Given the description of an element on the screen output the (x, y) to click on. 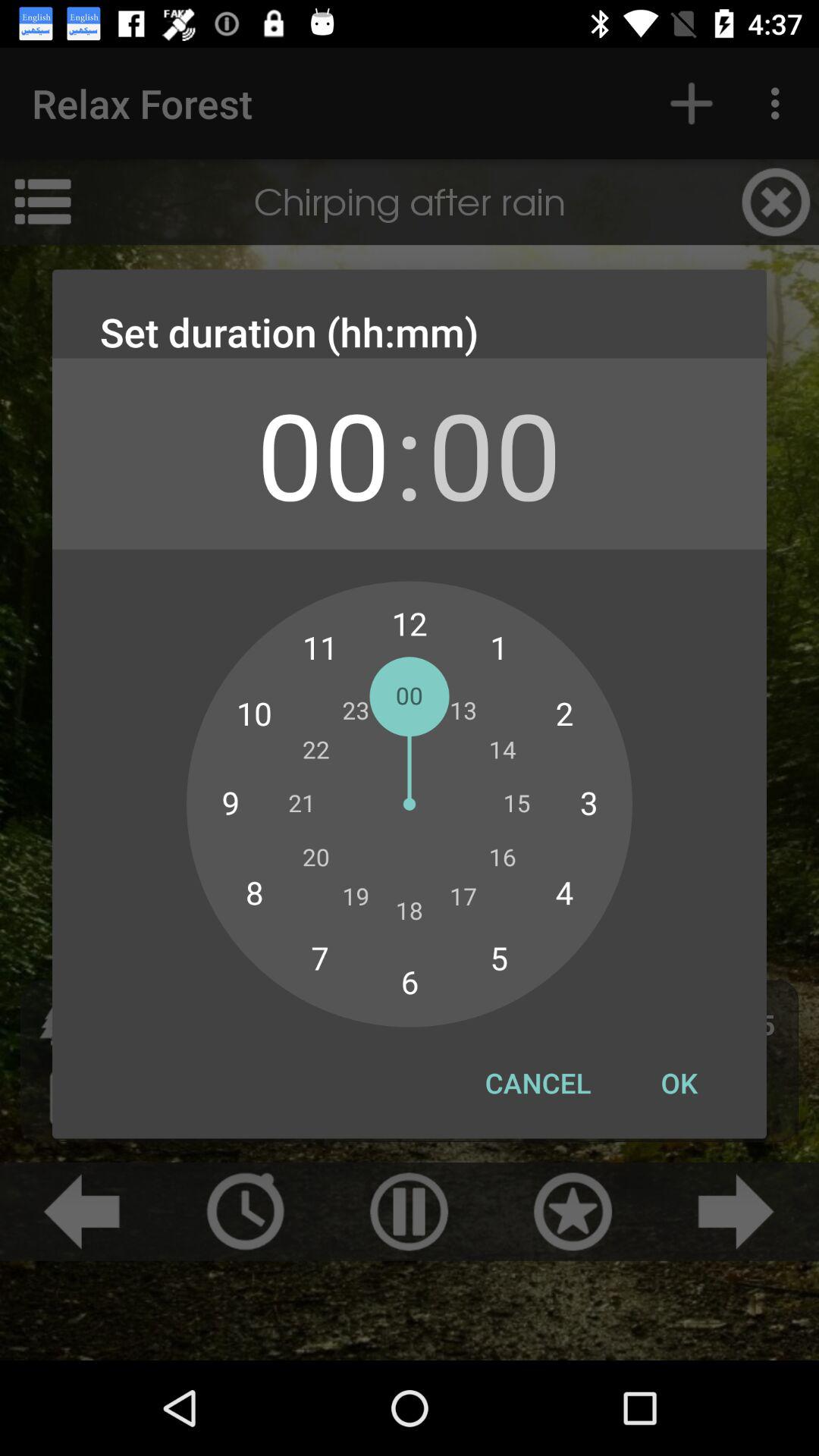
scroll until ok (678, 1082)
